Given the description of an element on the screen output the (x, y) to click on. 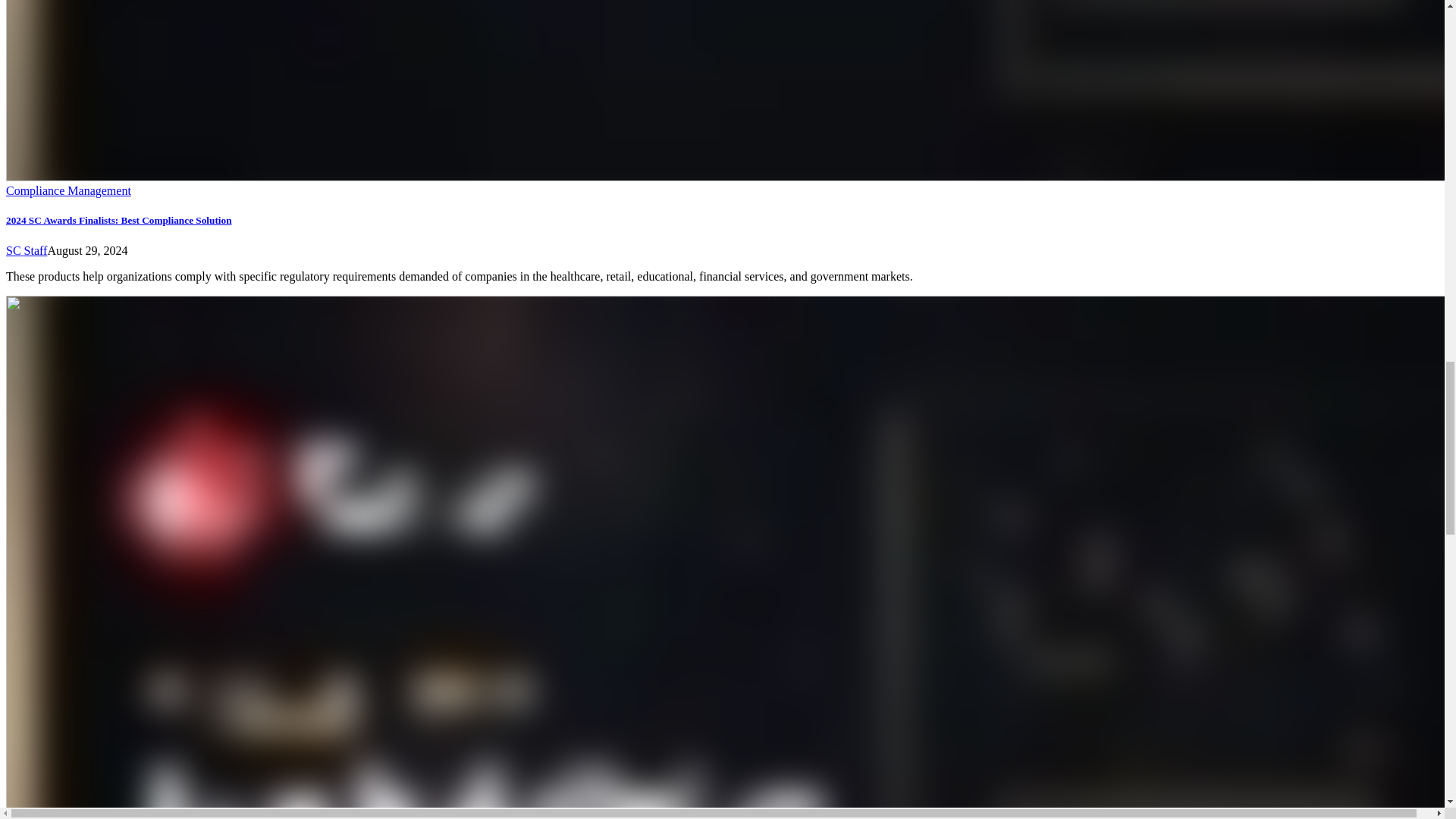
SC Staff (25, 250)
Compliance Management (68, 190)
